Given the description of an element on the screen output the (x, y) to click on. 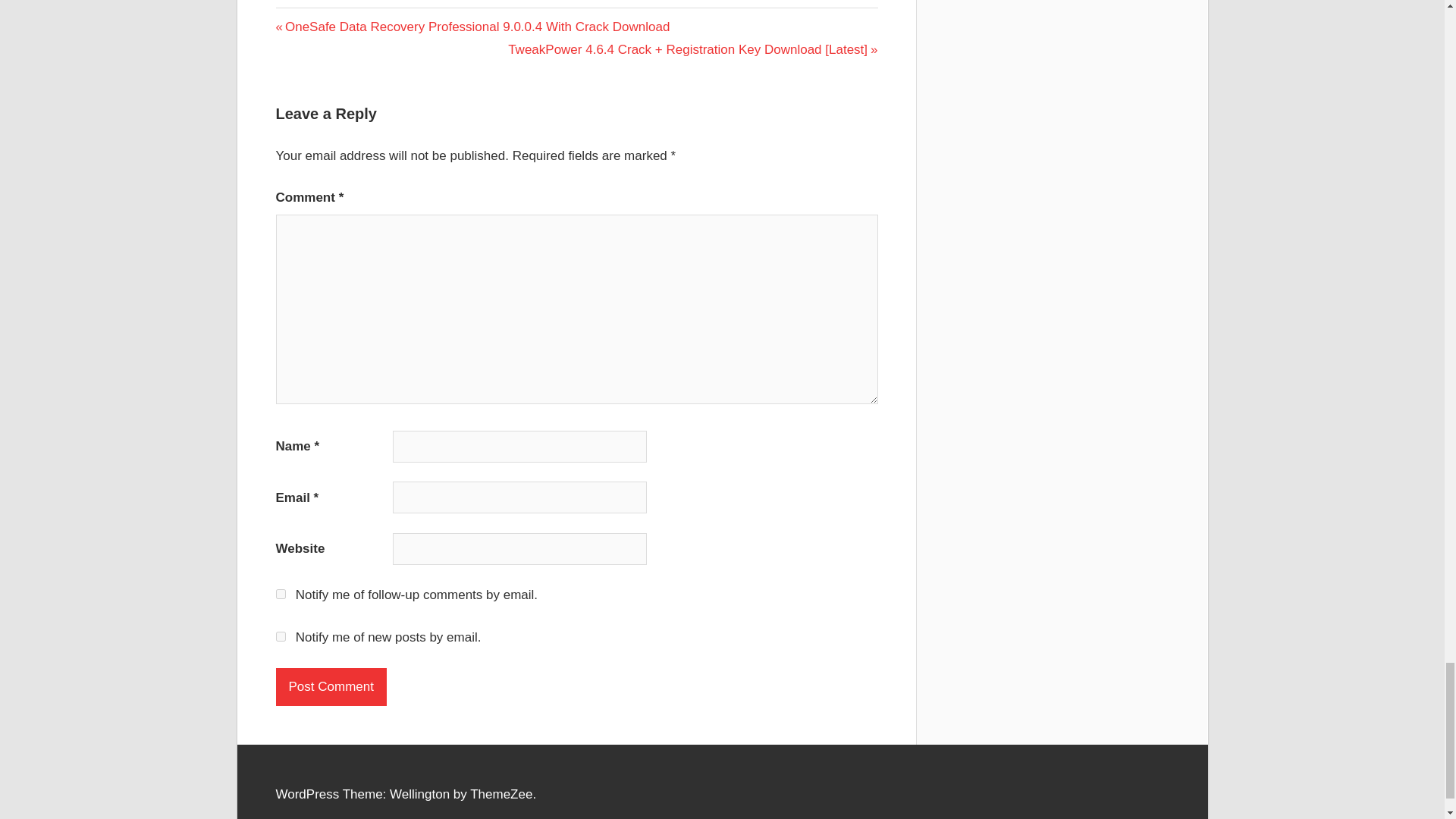
subscribe (280, 636)
subscribe (280, 593)
Post Comment (331, 686)
